Given the description of an element on the screen output the (x, y) to click on. 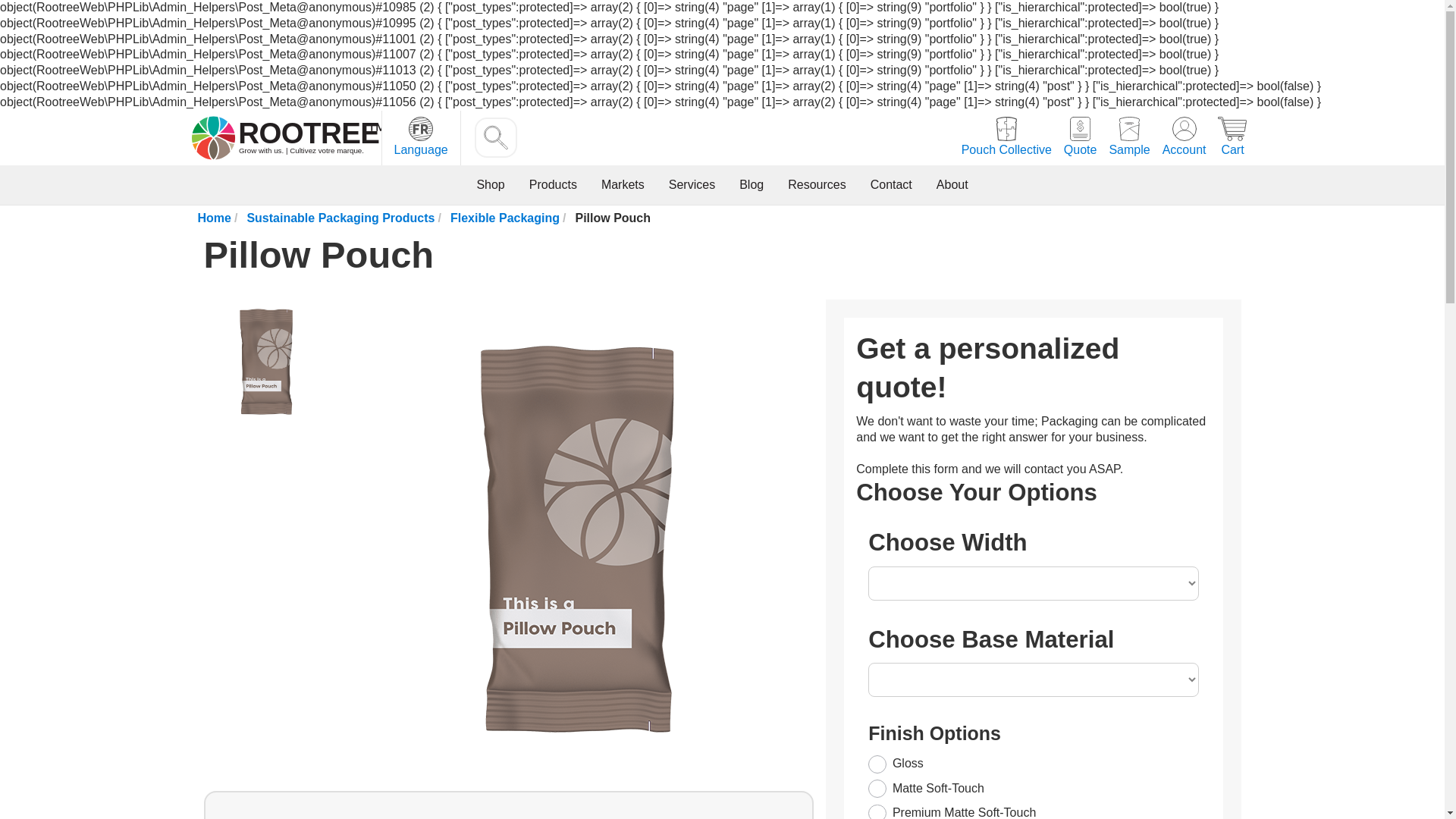
Products (552, 185)
Shop (490, 185)
Language (420, 137)
Products (552, 185)
Shop (490, 185)
Sample (1129, 137)
Search (495, 137)
Pouch Collective (1006, 137)
Account (1184, 137)
